Given the description of an element on the screen output the (x, y) to click on. 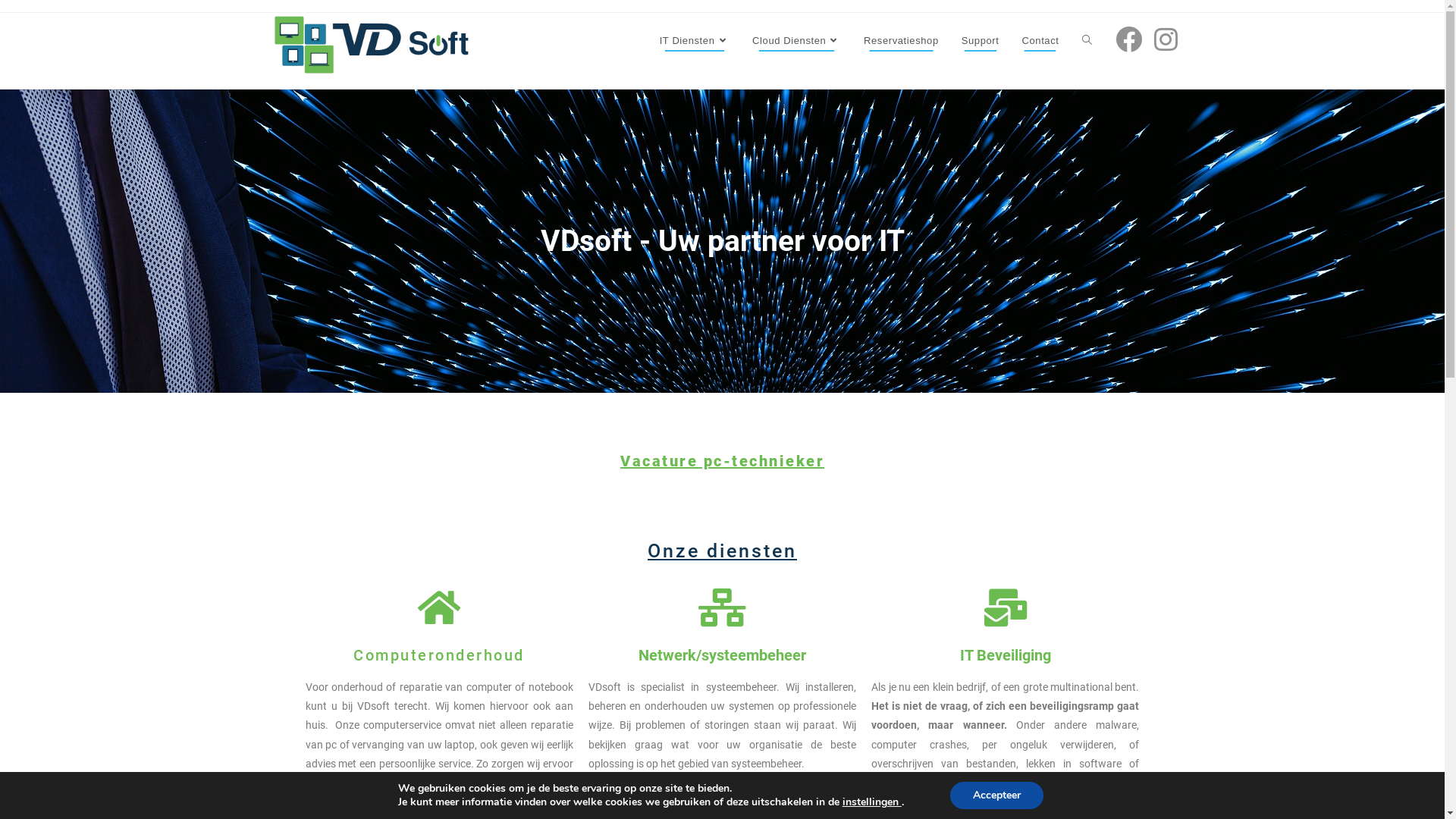
Reservatieshop Element type: text (901, 40)
IT Diensten Element type: text (694, 40)
Cloud Diensten Element type: text (796, 40)
Contact Element type: text (1040, 40)
Support Element type: text (980, 40)
Netwerk/systeembeheer Element type: text (722, 655)
Accepteer Element type: text (996, 795)
Vacature pc-technieker Element type: text (722, 460)
Computeronderhoud Element type: text (438, 655)
